Given the description of an element on the screen output the (x, y) to click on. 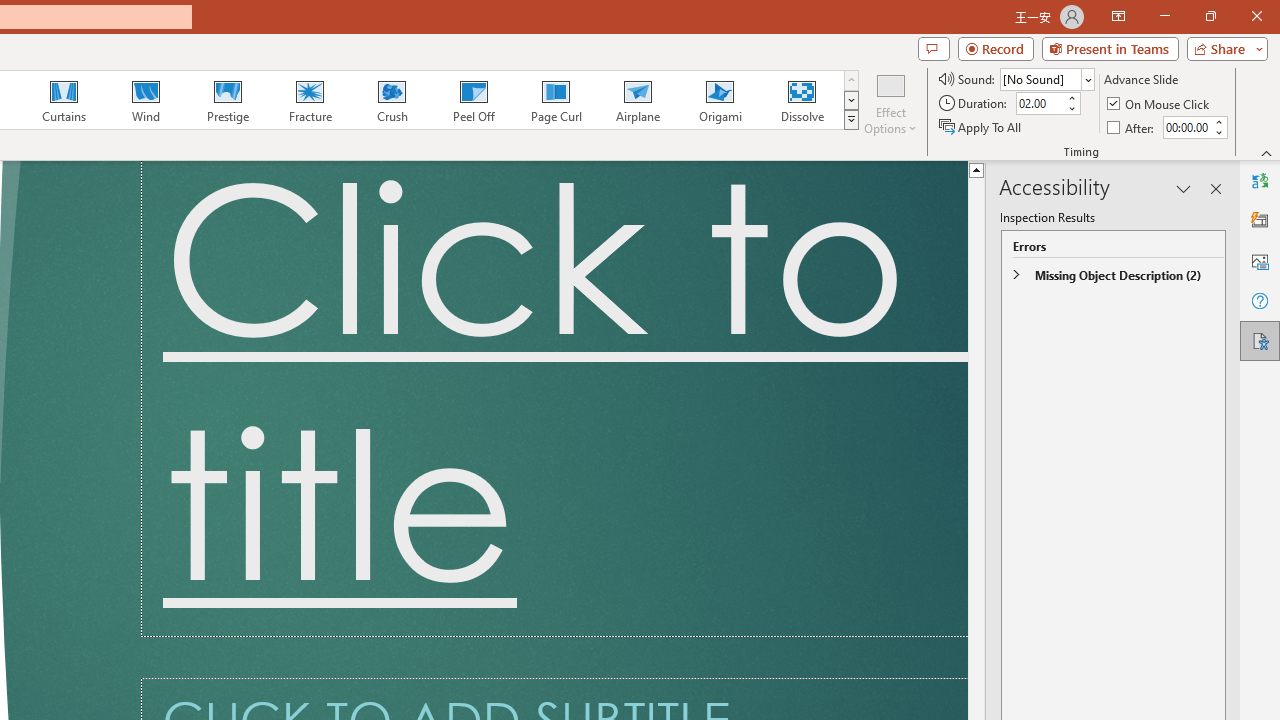
Duration (1039, 103)
Fracture (309, 100)
Sound (1046, 78)
Airplane (637, 100)
Transition Effects (850, 120)
Less (1218, 132)
More (1218, 121)
Effect Options (890, 102)
